Given the description of an element on the screen output the (x, y) to click on. 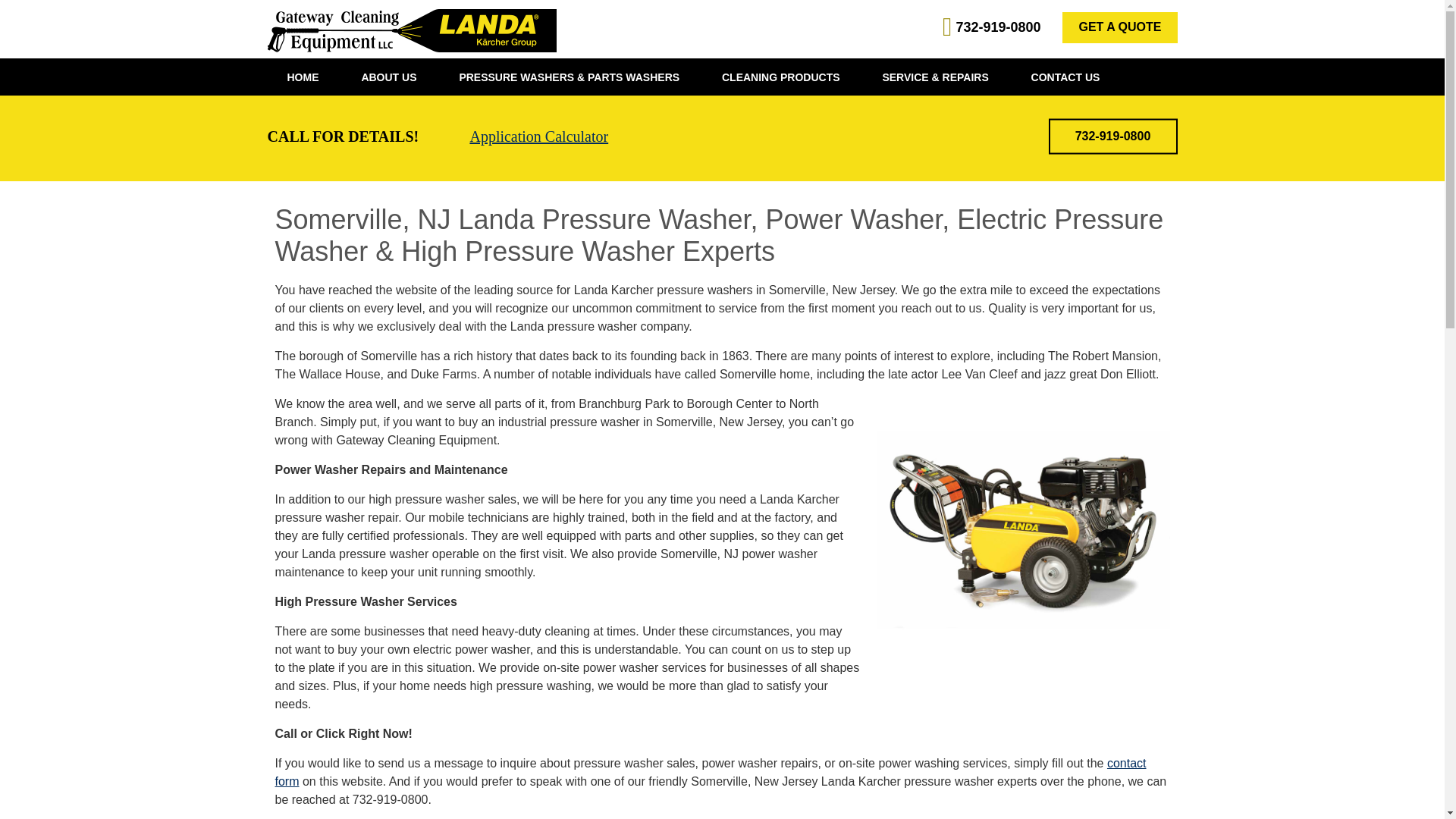
732-919-0800 (1112, 135)
CLEANING PRODUCTS (780, 76)
contact form (710, 771)
CONTACT US (1065, 76)
HOME (301, 76)
GET A QUOTE (1119, 27)
732-919-0800 (998, 27)
ABOUT US (387, 76)
Application Calculator (538, 135)
